Given the description of an element on the screen output the (x, y) to click on. 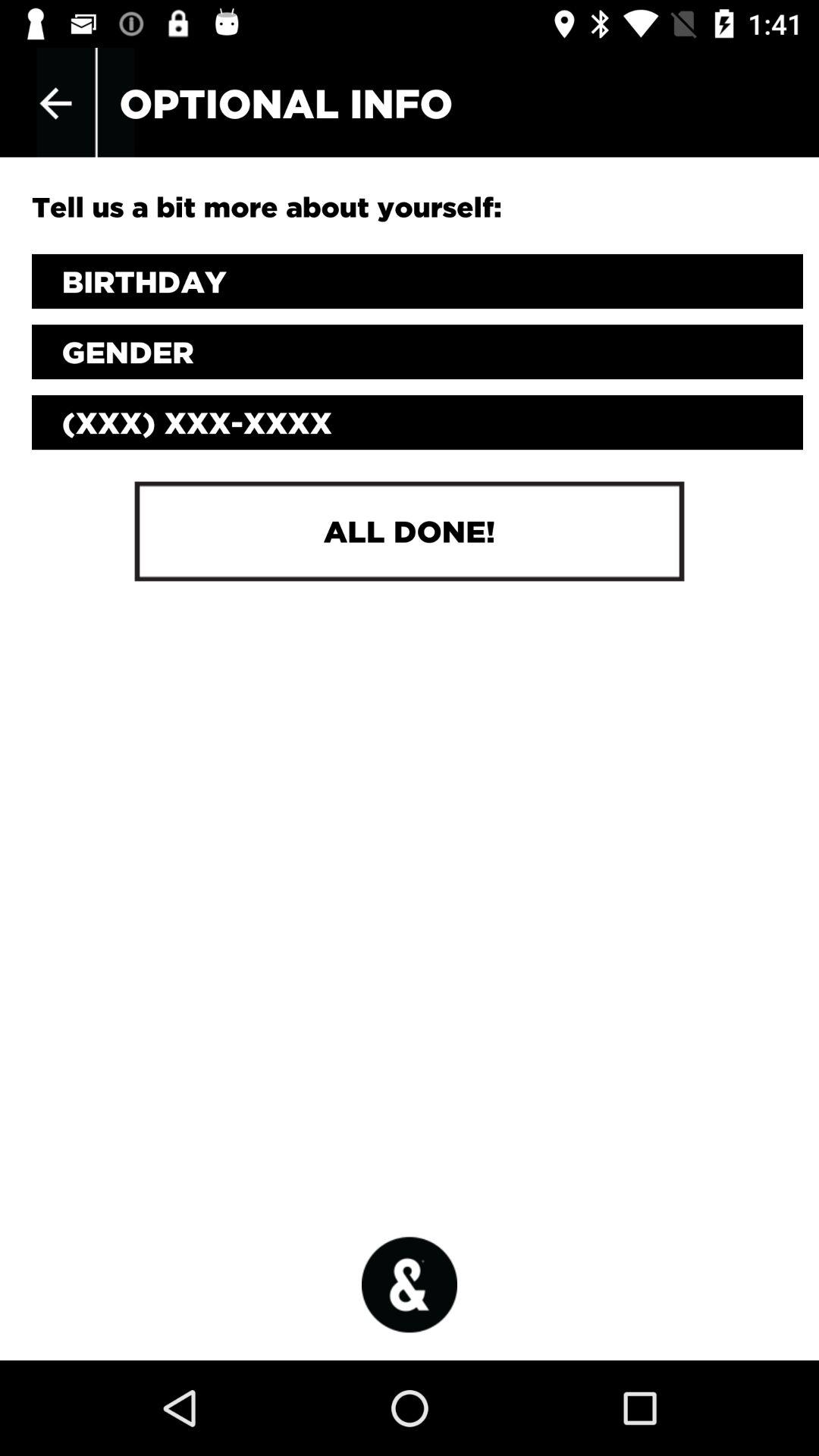
select text box for phone number (417, 422)
